Given the description of an element on the screen output the (x, y) to click on. 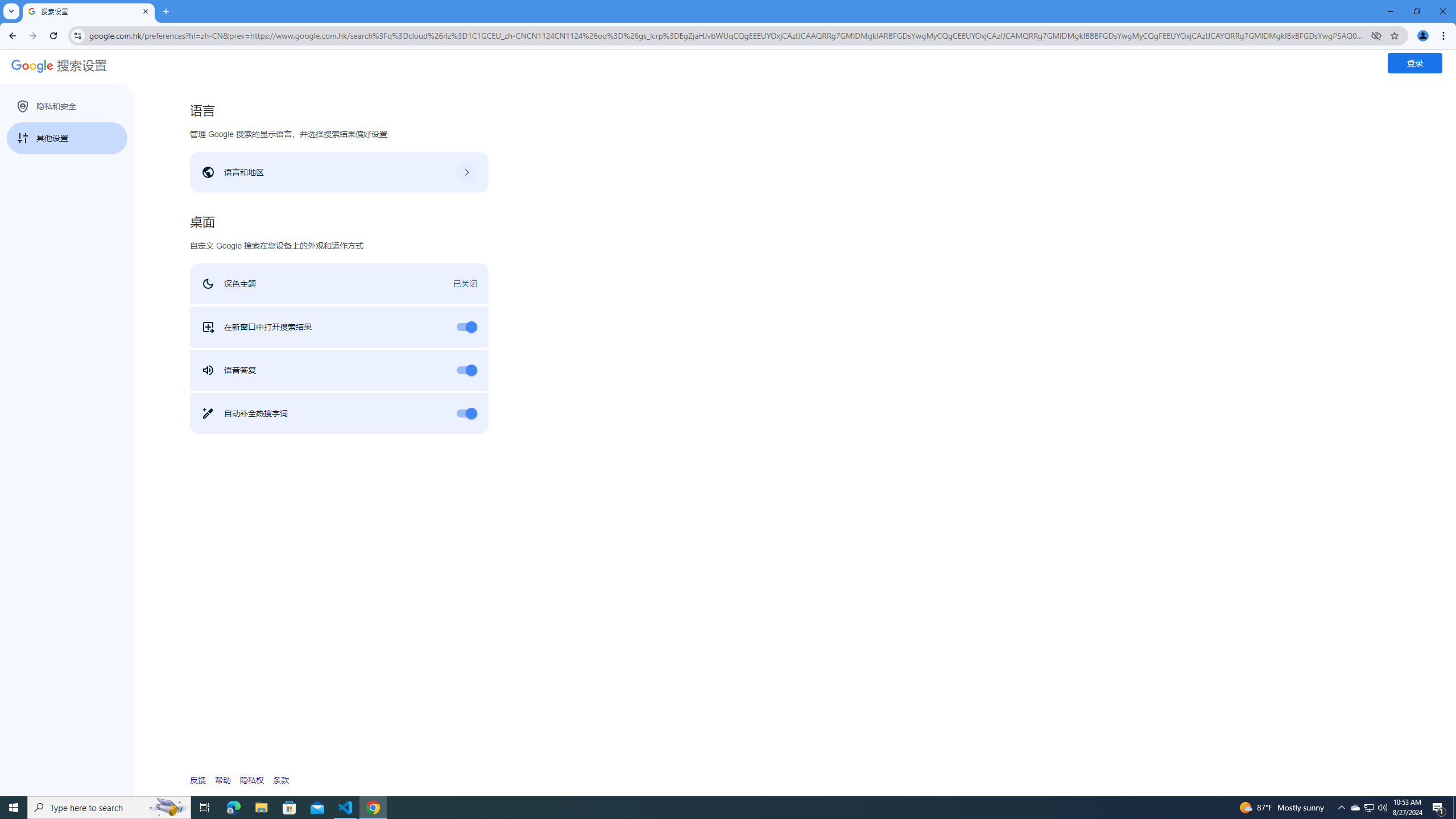
Google (28, 66)
